Given the description of an element on the screen output the (x, y) to click on. 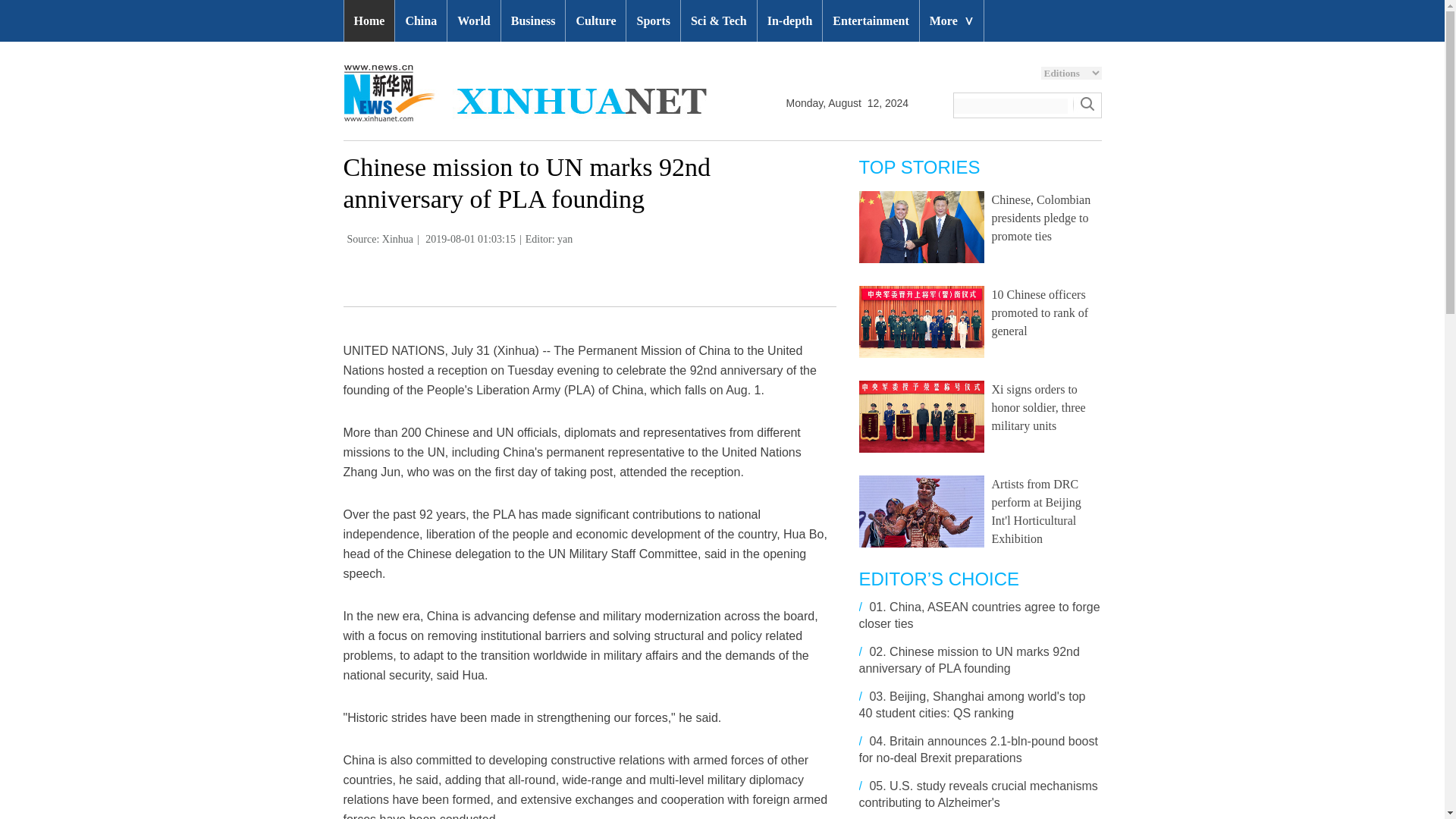
World (473, 20)
Culture (596, 20)
In-depth (789, 20)
Sports (652, 20)
Entertainment (870, 20)
Home (368, 20)
Business (533, 20)
China (420, 20)
